Given the description of an element on the screen output the (x, y) to click on. 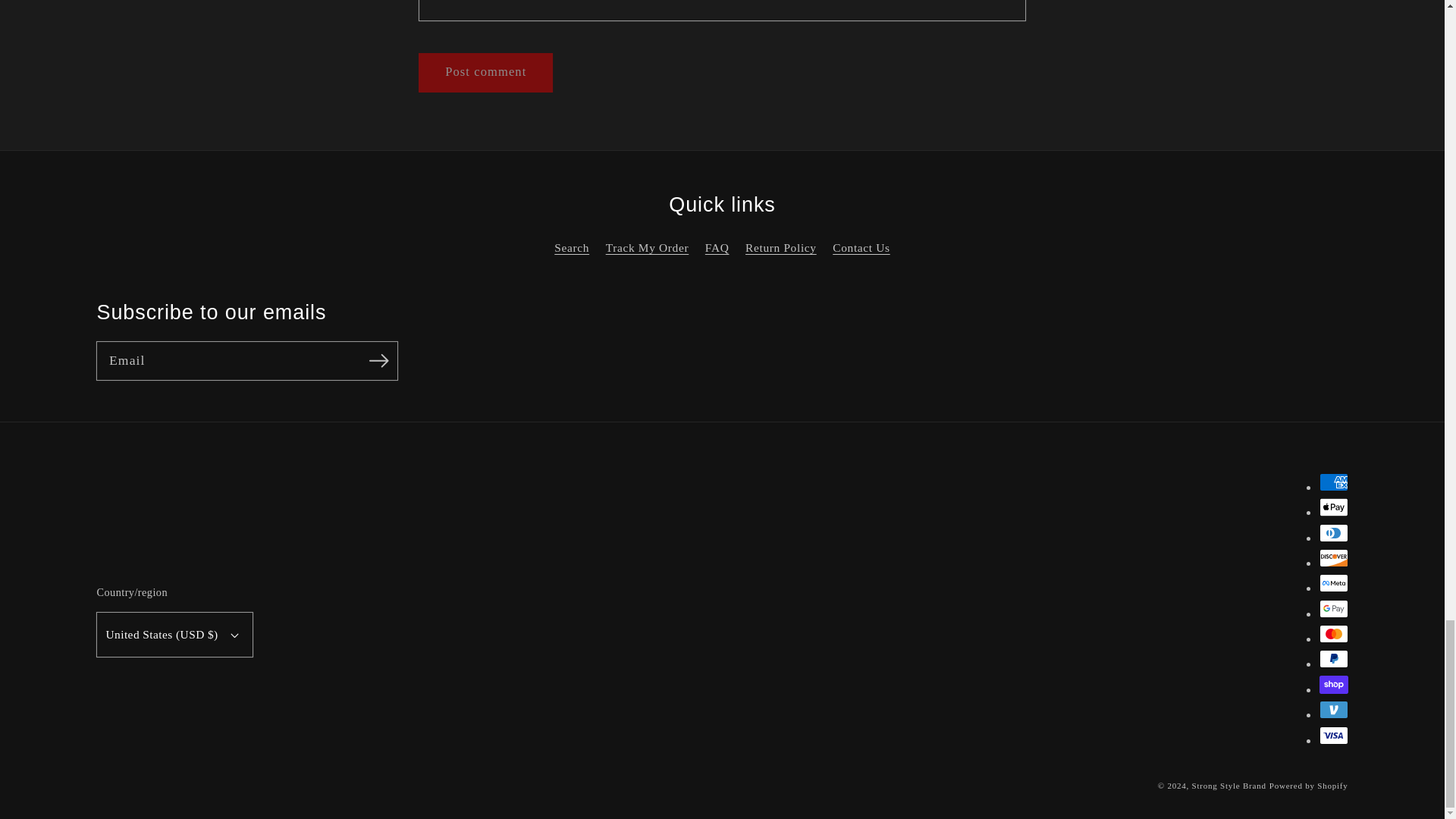
Diners Club (1333, 533)
Mastercard (1333, 633)
Discover (1333, 557)
Venmo (1333, 710)
Post comment (485, 72)
Shop Pay (1333, 684)
Google Pay (1333, 608)
Apple Pay (1333, 506)
Meta Pay (1333, 583)
American Express (1333, 482)
